Given the description of an element on the screen output the (x, y) to click on. 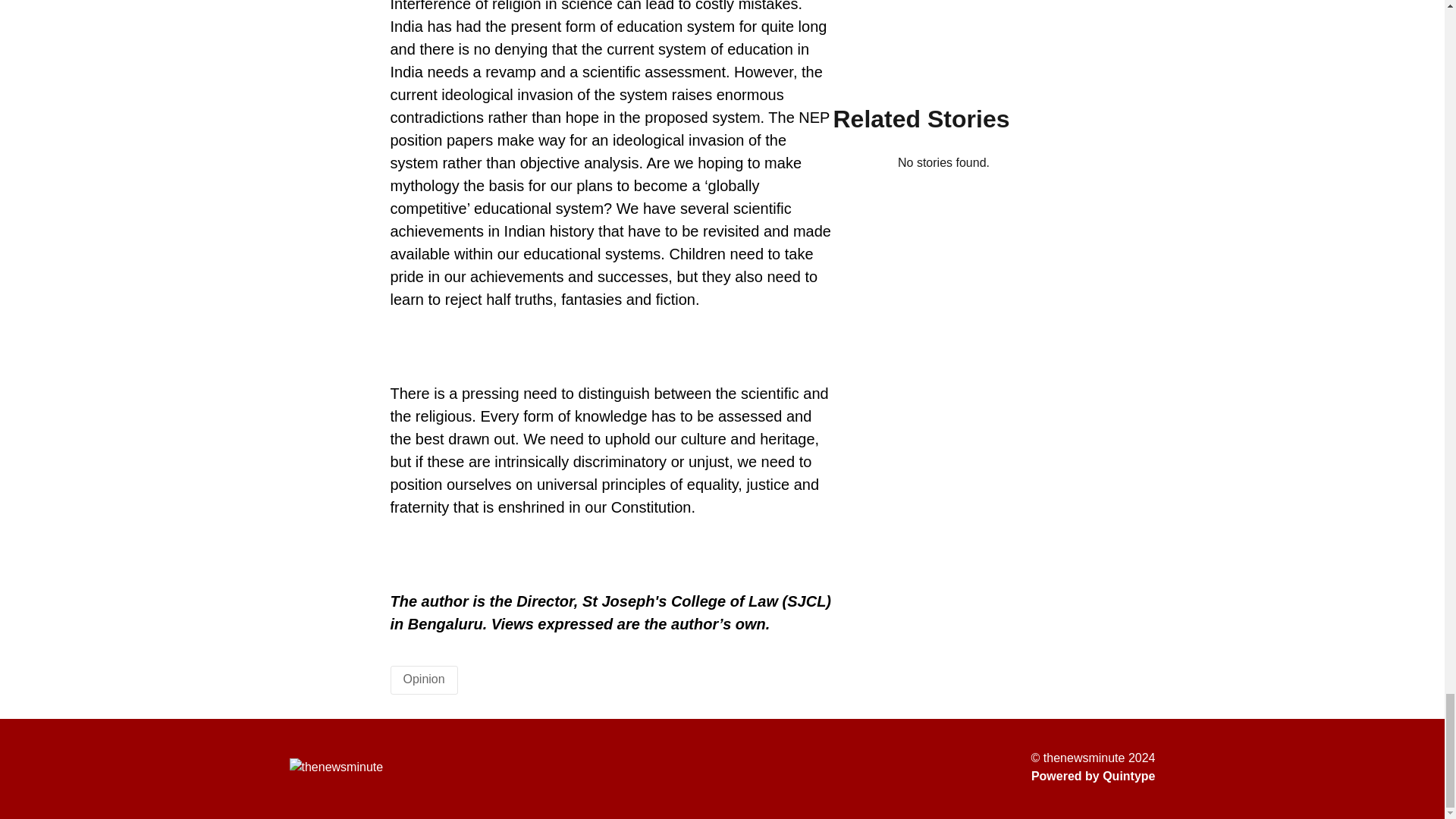
Opinion (424, 677)
Powered by Quintype (1093, 776)
